Given the description of an element on the screen output the (x, y) to click on. 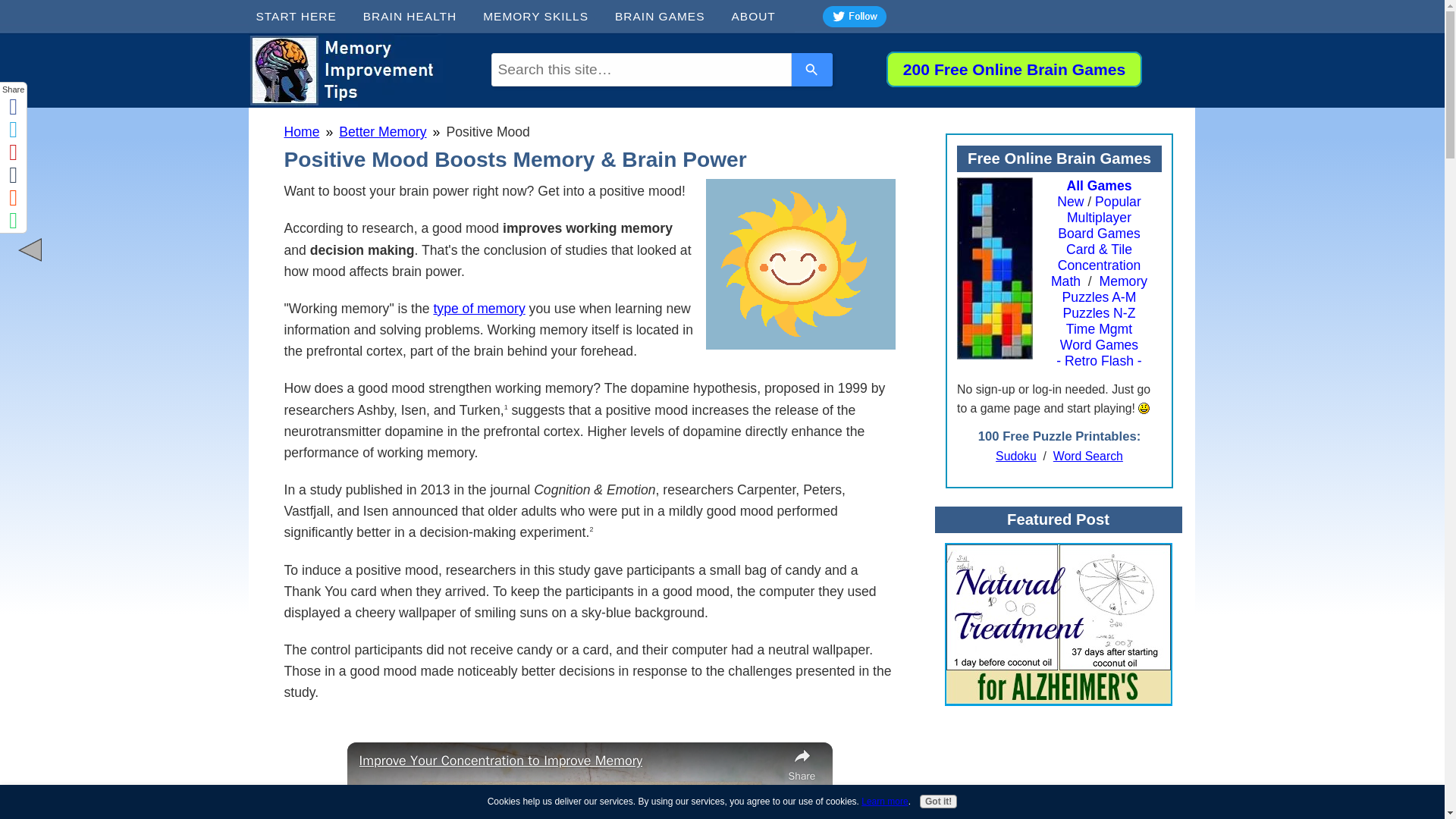
ABOUT (758, 16)
Play Free Anytime (1013, 67)
Smiling sun (799, 264)
BRAIN GAMES (665, 16)
Natural Treatment (1058, 623)
START HERE (301, 16)
MEMORY SKILLS (541, 16)
BRAIN HEALTH (415, 16)
